Given the description of an element on the screen output the (x, y) to click on. 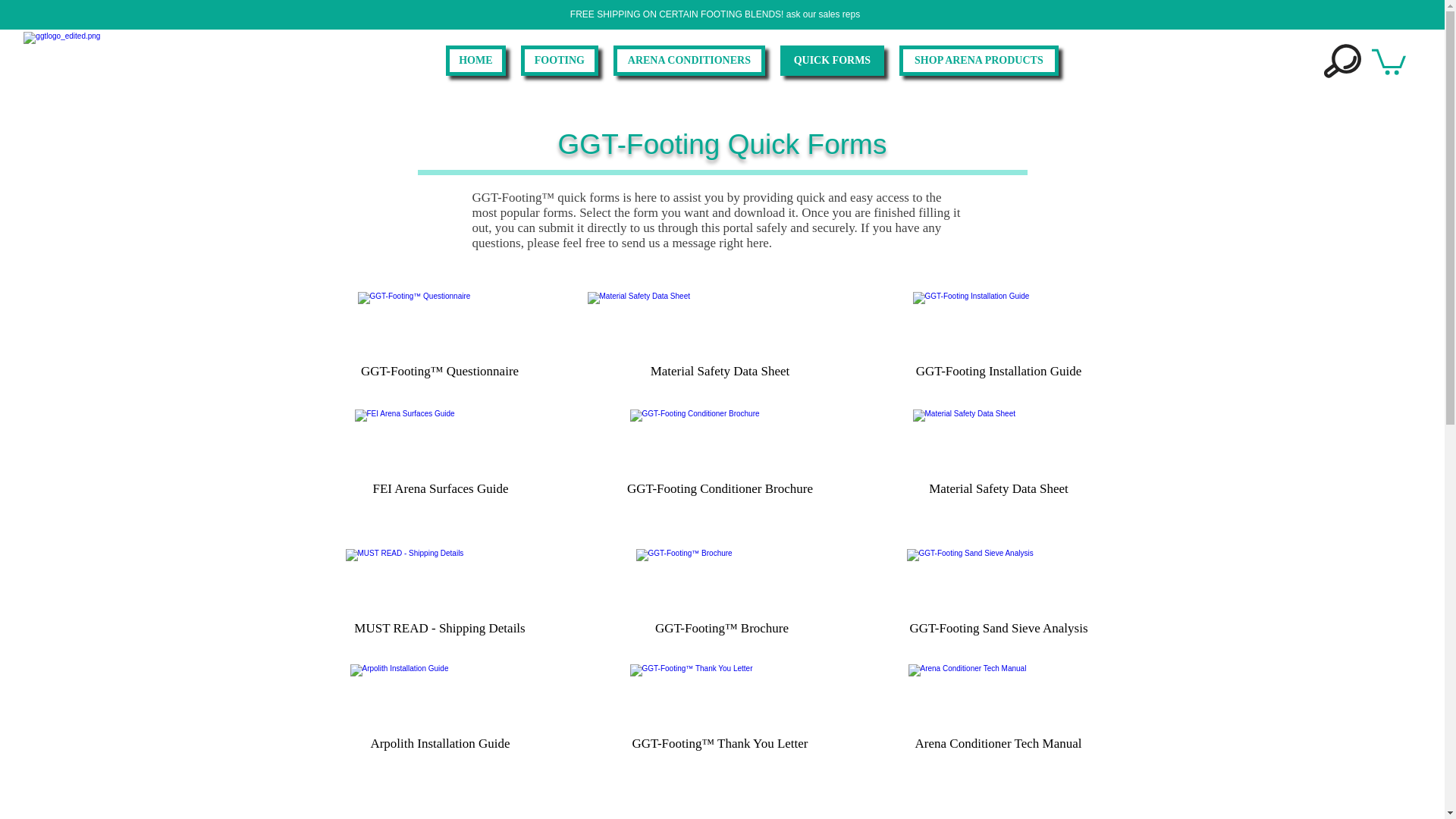
Material Safety Data Sheet (997, 455)
FOOTING (559, 60)
GGT-Footing Conditioner Brochure (719, 455)
Material Safety Data Sheet (997, 455)
GGT-Footing Sand Sieve Analysis (998, 594)
FEI Arena Surfaces Guide (439, 455)
SHOP ARENA PRODUCTS (978, 60)
Material Safety Data Sheet (720, 337)
Arpolith Installation Guide (440, 710)
Material Safety Data Sheet (720, 337)
GGT-Footing Installation Guide (997, 337)
FEI Arena Surfaces Guide (439, 455)
MUST READ - Shipping Details (438, 594)
Arena Conditioner Tech Manual (998, 710)
MUST READ - Shipping Details (438, 594)
